Given the description of an element on the screen output the (x, y) to click on. 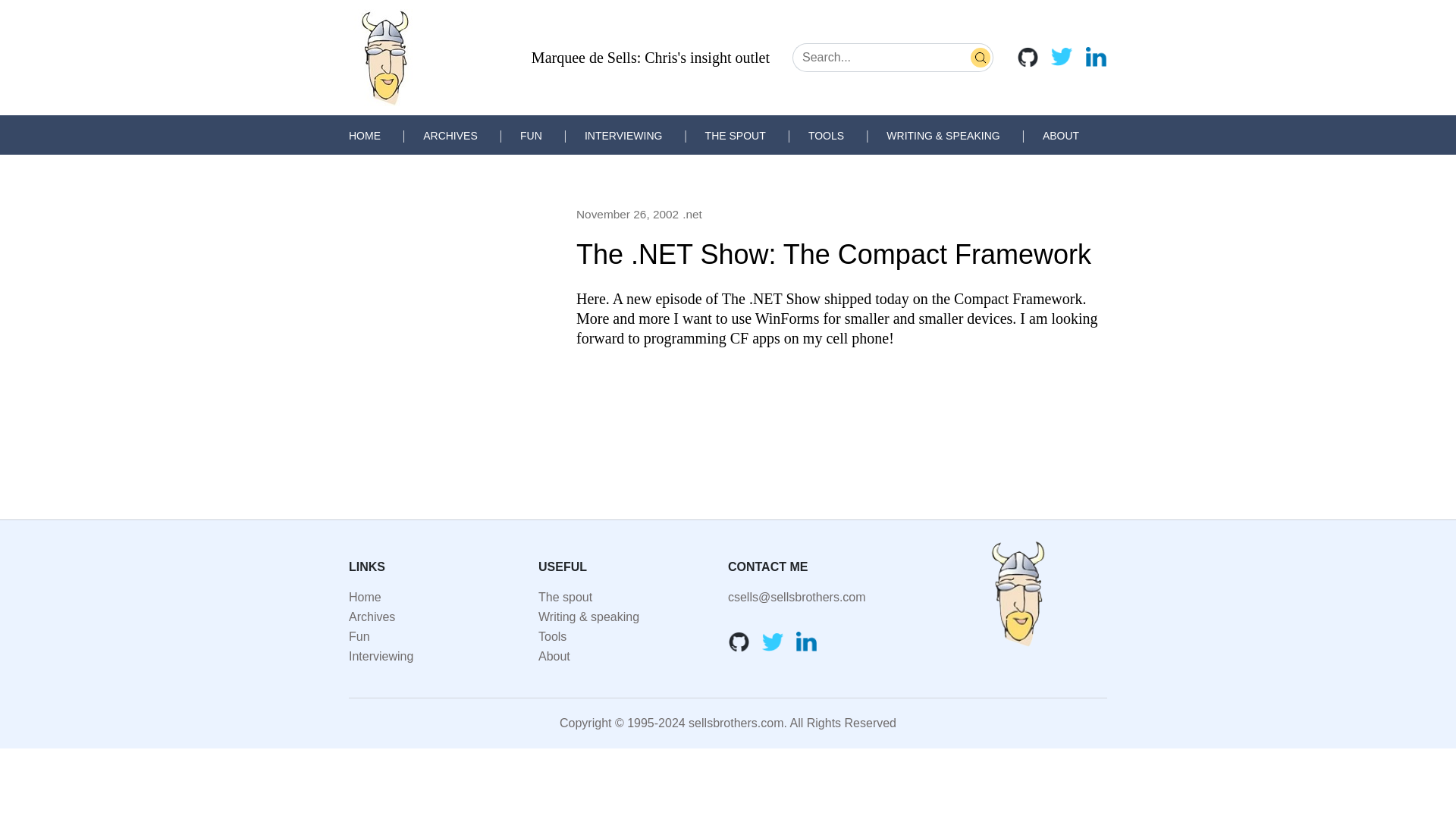
Twitter (1061, 56)
GitHub (1027, 56)
.net (691, 214)
About (554, 656)
Fun (359, 635)
FUN (530, 135)
November 26, 2002 (627, 214)
Tools (552, 635)
Interviewing (381, 656)
HOME (364, 135)
